Given the description of an element on the screen output the (x, y) to click on. 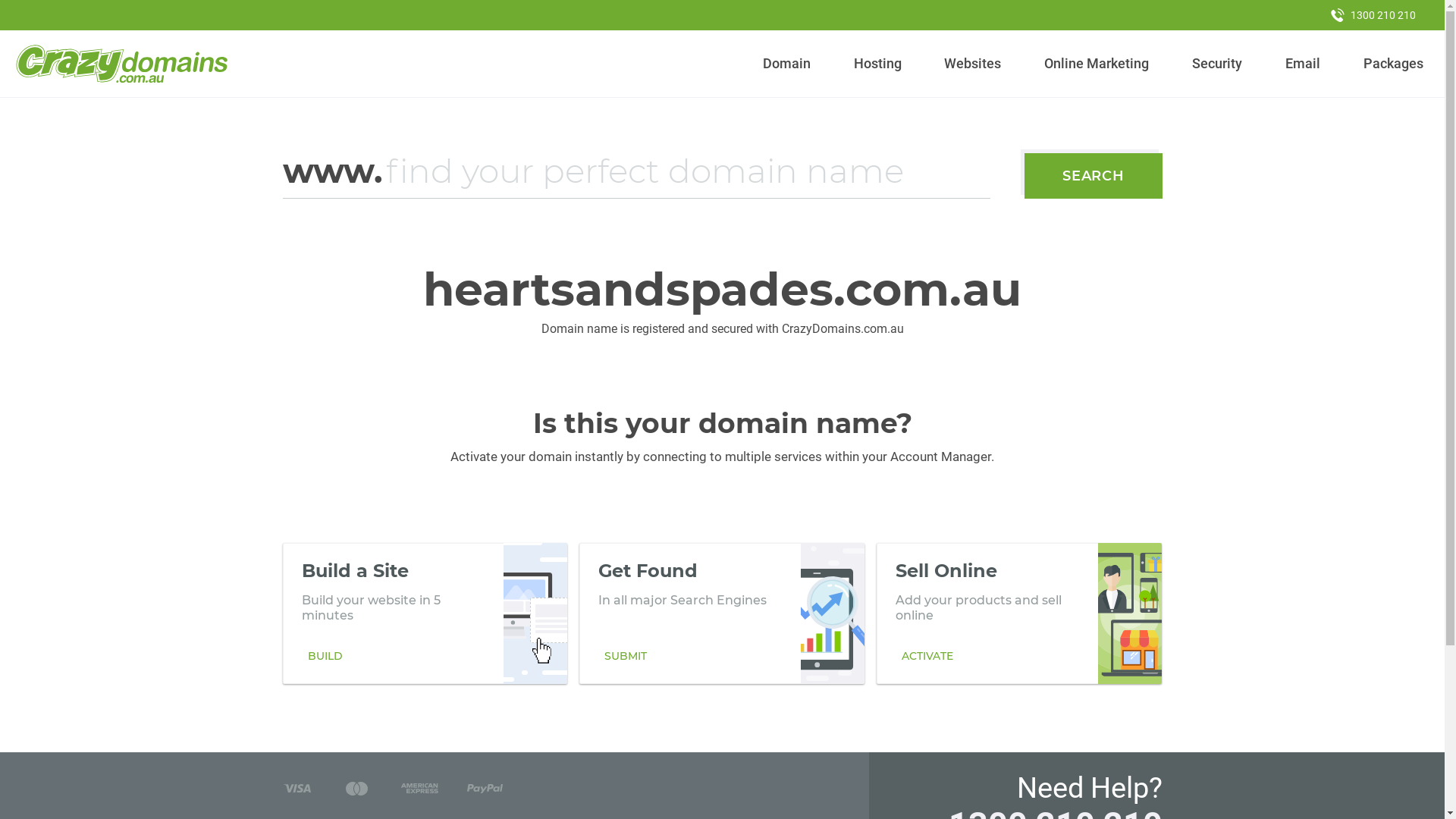
Hosting Element type: text (877, 63)
1300 210 210 Element type: text (1373, 15)
Online Marketing Element type: text (1096, 63)
Sell Online
Add your products and sell online
ACTIVATE Element type: text (1018, 613)
Email Element type: text (1302, 63)
Build a Site
Build your website in 5 minutes
BUILD Element type: text (424, 613)
Security Element type: text (1217, 63)
Packages Element type: text (1392, 63)
Websites Element type: text (972, 63)
Get Found
In all major Search Engines
SUBMIT Element type: text (721, 613)
SEARCH Element type: text (1092, 175)
Domain Element type: text (786, 63)
